Given the description of an element on the screen output the (x, y) to click on. 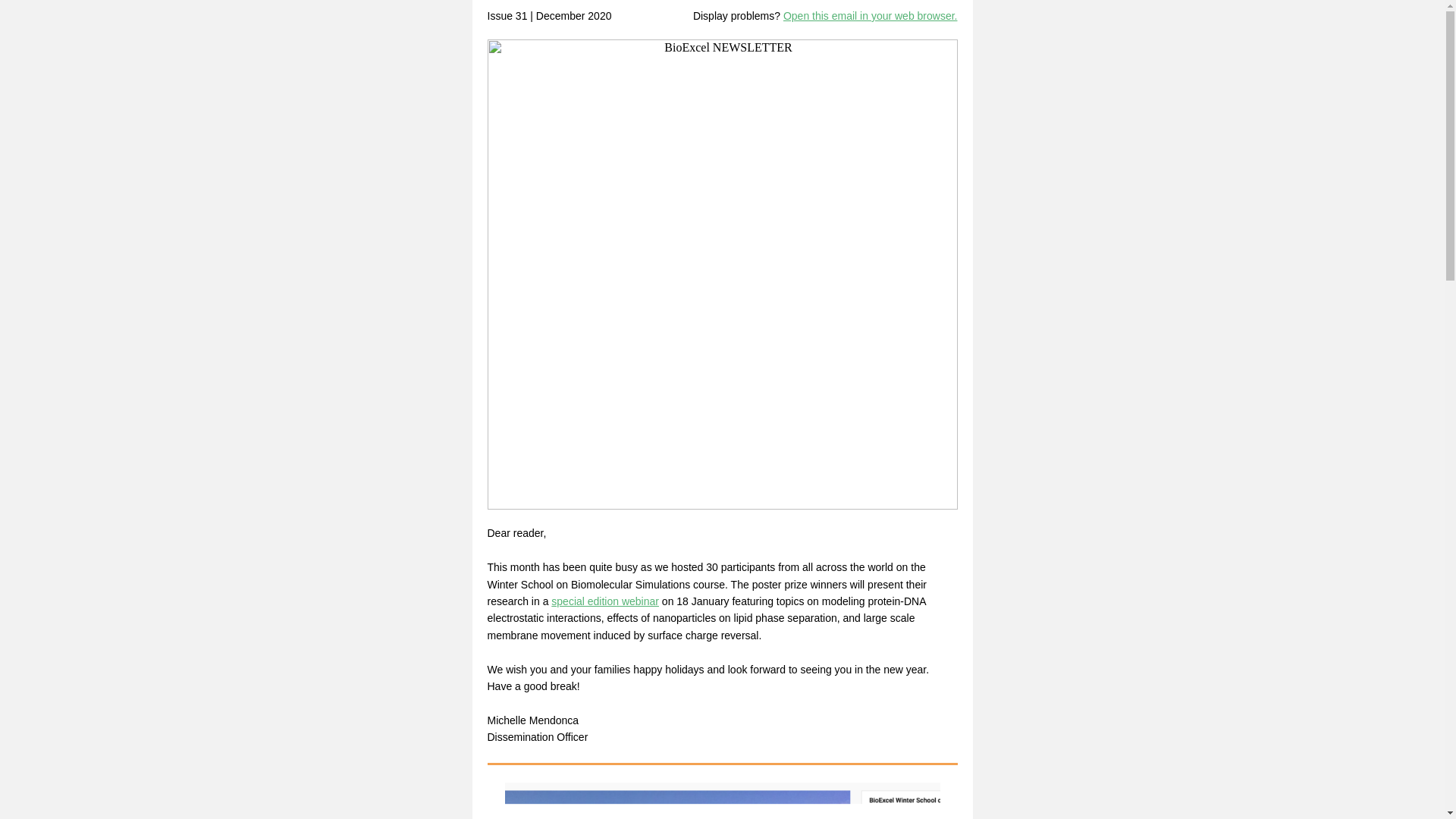
special edition webinar (605, 601)
Open this email in your web browser. (870, 15)
